Given the description of an element on the screen output the (x, y) to click on. 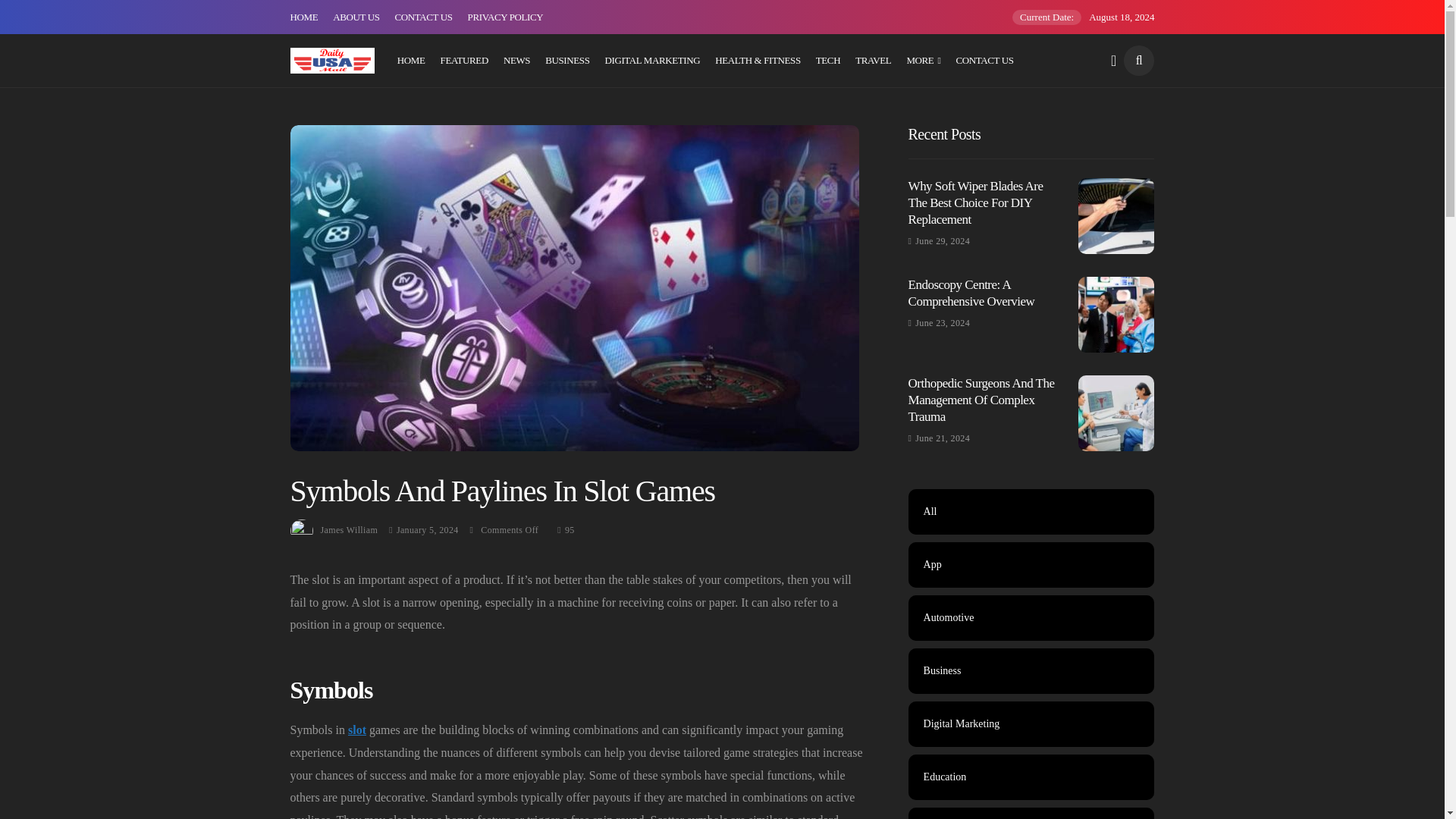
PRIVACY POLICY (505, 17)
DIGITAL MARKETING (652, 60)
FEATURED (464, 60)
Orthopedic Surgeons And The Management Of Complex Trauma (1116, 413)
CONTACT US (423, 17)
Posts by James William (348, 529)
ABOUT US (355, 17)
CONTACT US (984, 60)
Endoscopy Centre: A Comprehensive Overview (1116, 314)
